Given the description of an element on the screen output the (x, y) to click on. 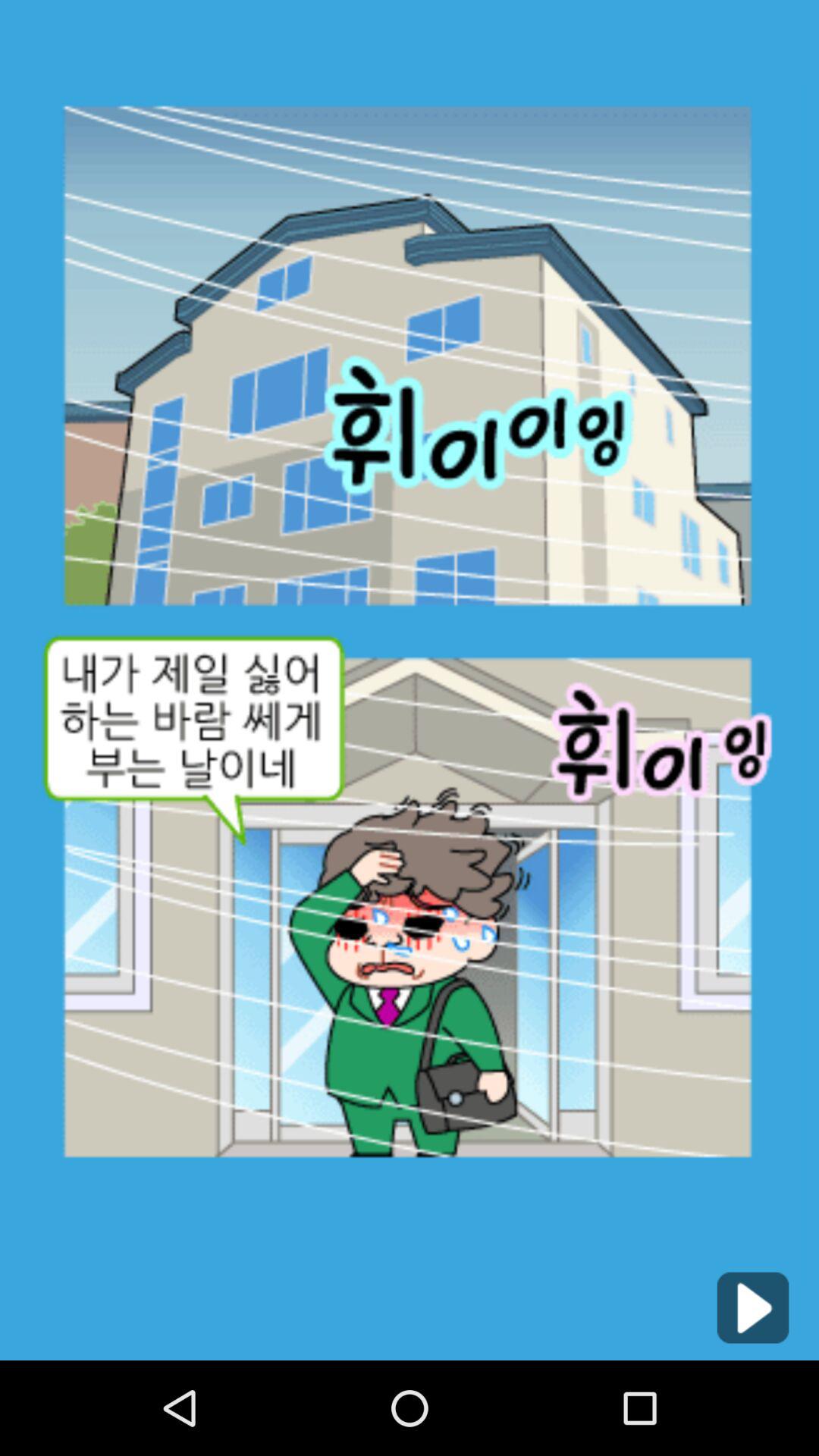
play the video (752, 1307)
